Given the description of an element on the screen output the (x, y) to click on. 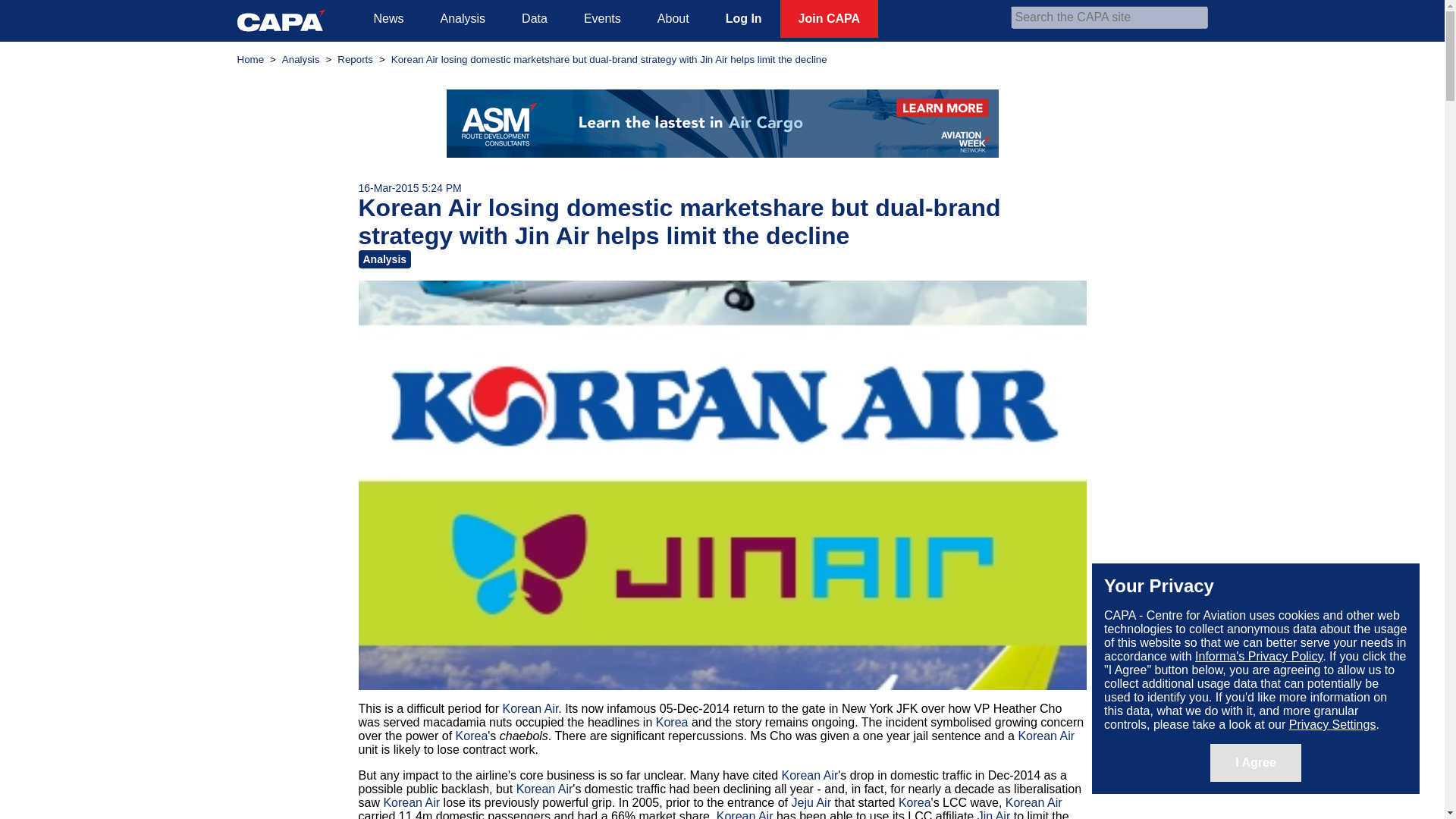
Reports (354, 59)
Analysis (301, 59)
More information on Jin Air (993, 814)
More information on Jeju Air (809, 802)
More information on Korean Air (544, 788)
Home (249, 59)
More information on Korea (672, 721)
Events (602, 18)
Korea (471, 735)
More information on Korea (914, 802)
More information on Korean Air (1045, 735)
Analysis (462, 18)
Log In (743, 18)
More information on Korean Air (744, 814)
